Given the description of an element on the screen output the (x, y) to click on. 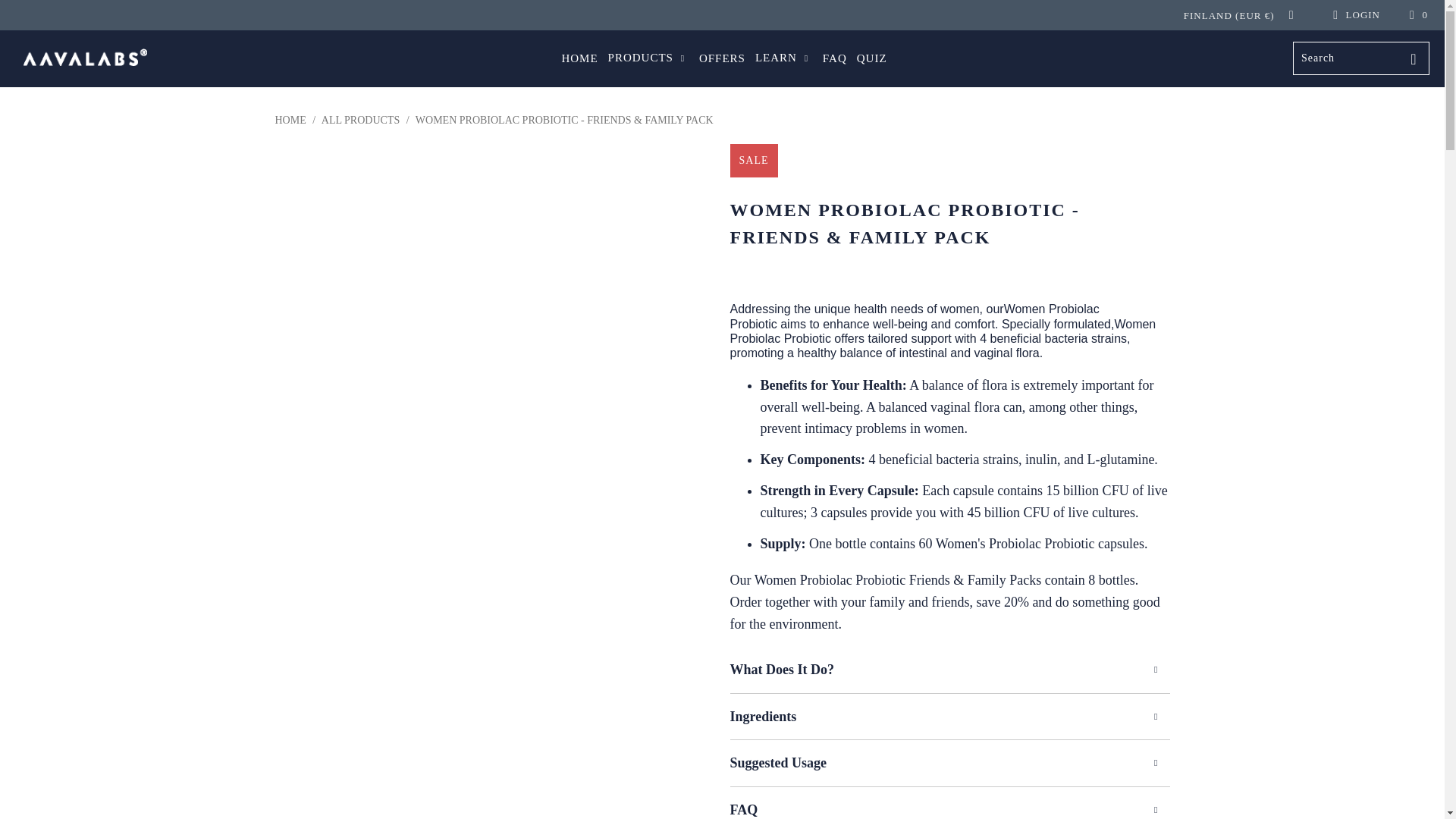
ALL PRODUCTS (359, 120)
AAVALABS (290, 120)
My Account  (1353, 15)
AAVALABS (84, 58)
